Given the description of an element on the screen output the (x, y) to click on. 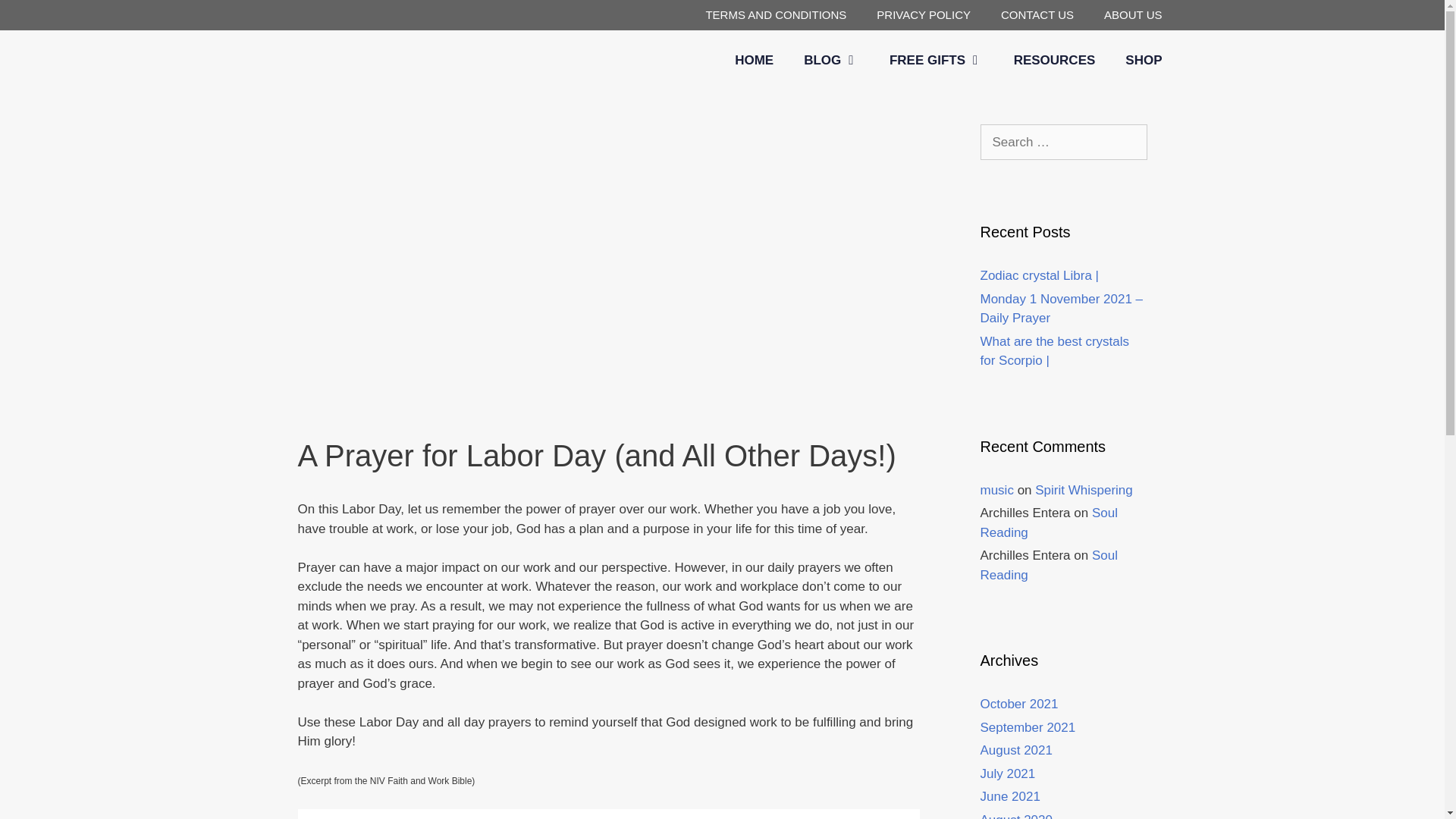
ABOUT US (1132, 15)
TERMS AND CONDITIONS (775, 15)
PRIVACY POLICY (923, 15)
SHOP (1142, 60)
FREE GIFTS (936, 60)
Ethereal Manifest (342, 61)
HOME (754, 60)
BLOG (832, 60)
Ethereal Manifest (342, 60)
Search for: (1063, 142)
RESOURCES (1054, 60)
CONTACT US (1037, 15)
